Given the description of an element on the screen output the (x, y) to click on. 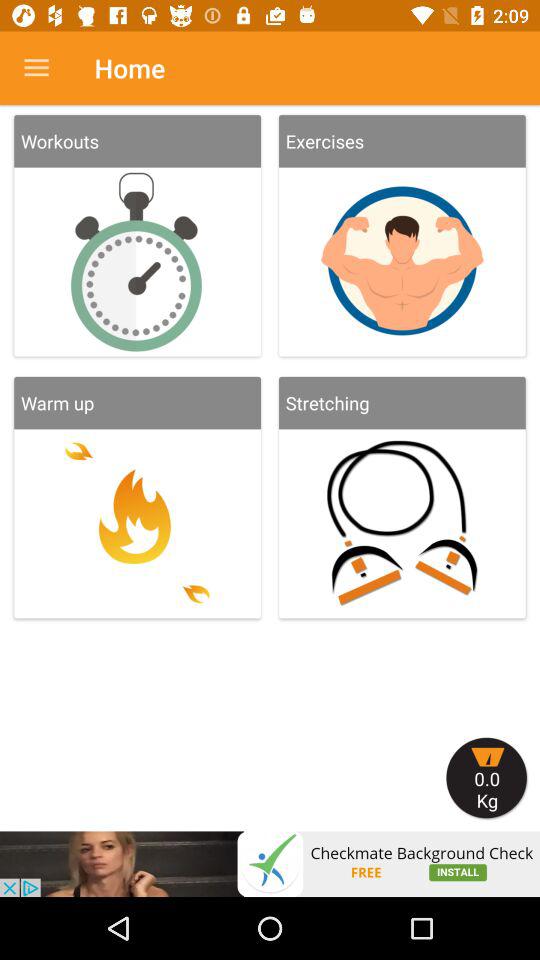
cliick on advertisement (270, 864)
